Given the description of an element on the screen output the (x, y) to click on. 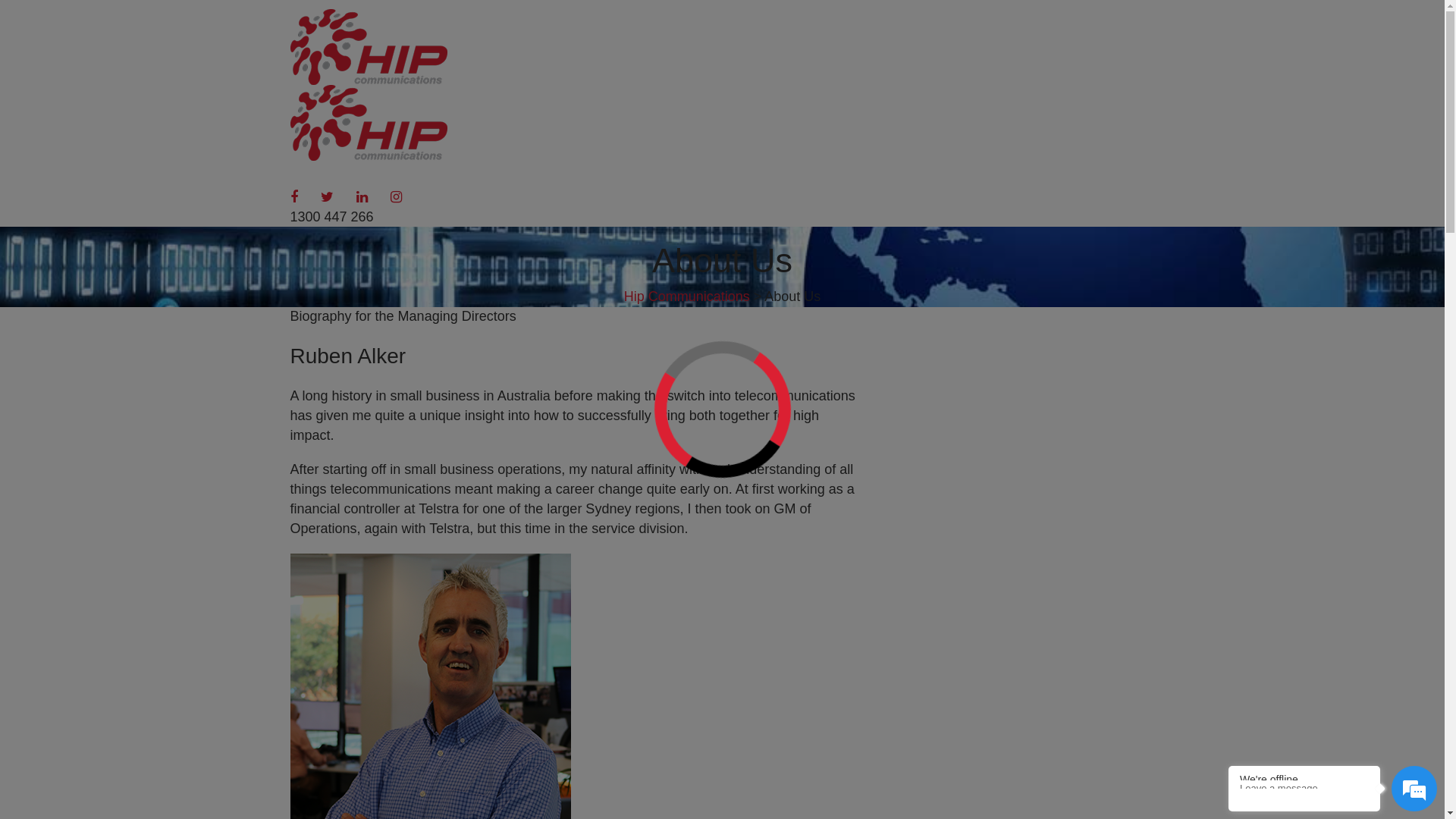
facebook Element type: hover (293, 196)
twitter Element type: hover (326, 196)
Hip Communications Element type: text (686, 296)
linkedin Element type: hover (361, 196)
instagram Element type: hover (395, 196)
